Given the description of an element on the screen output the (x, y) to click on. 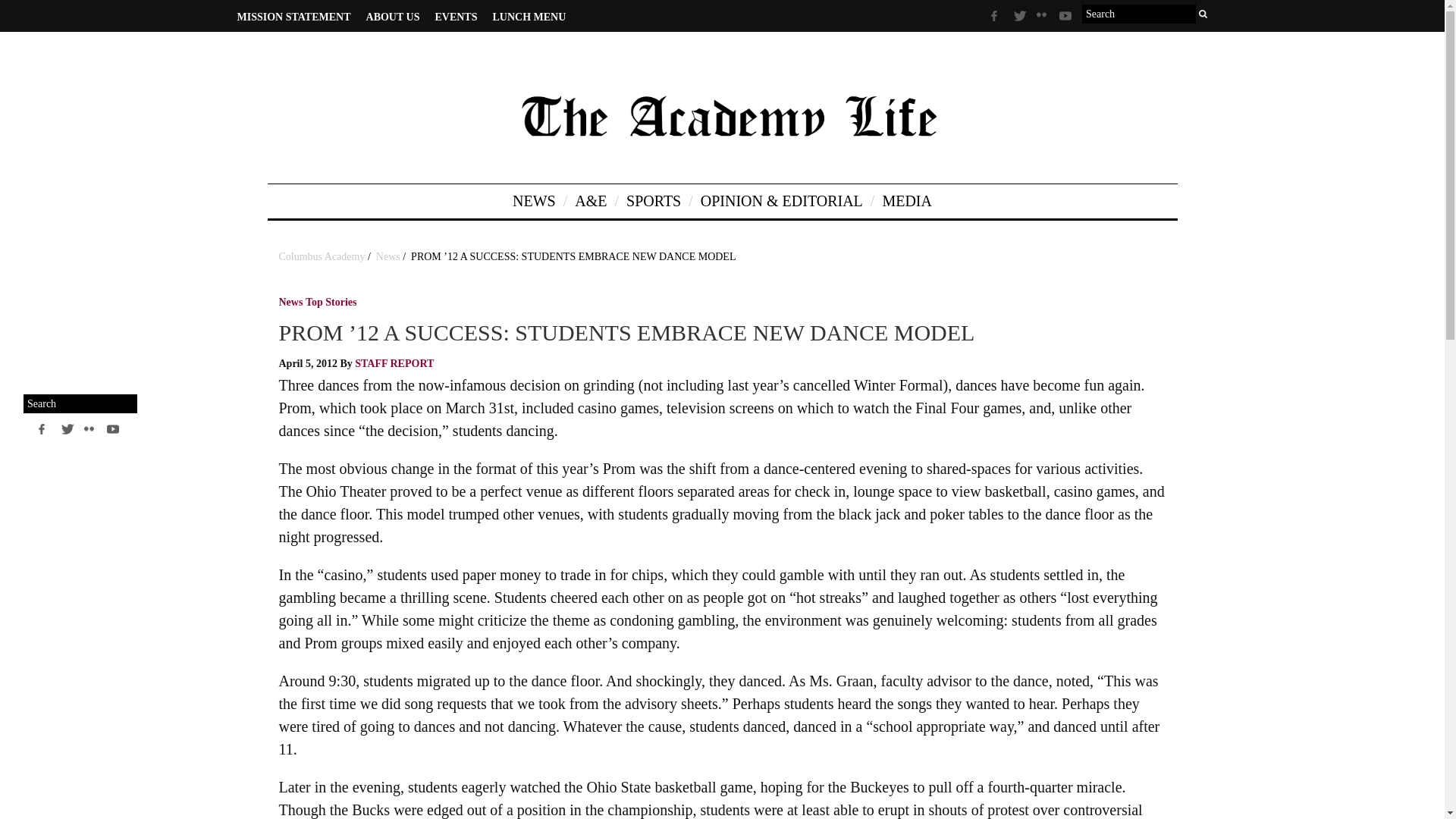
Search (1202, 13)
MEDIA (907, 201)
Lunch Menu (95, 338)
Events (95, 309)
Posts by Staff Report (394, 363)
YOUTUBE (1066, 17)
NEWS (98, 38)
 View all posts in News (290, 305)
MEDIA (98, 194)
MISSION STATEMENT (292, 16)
FLICKR (1043, 19)
Search (143, 403)
About Us (95, 281)
LUNCH MENU (529, 16)
SPORTS (98, 106)
